Given the description of an element on the screen output the (x, y) to click on. 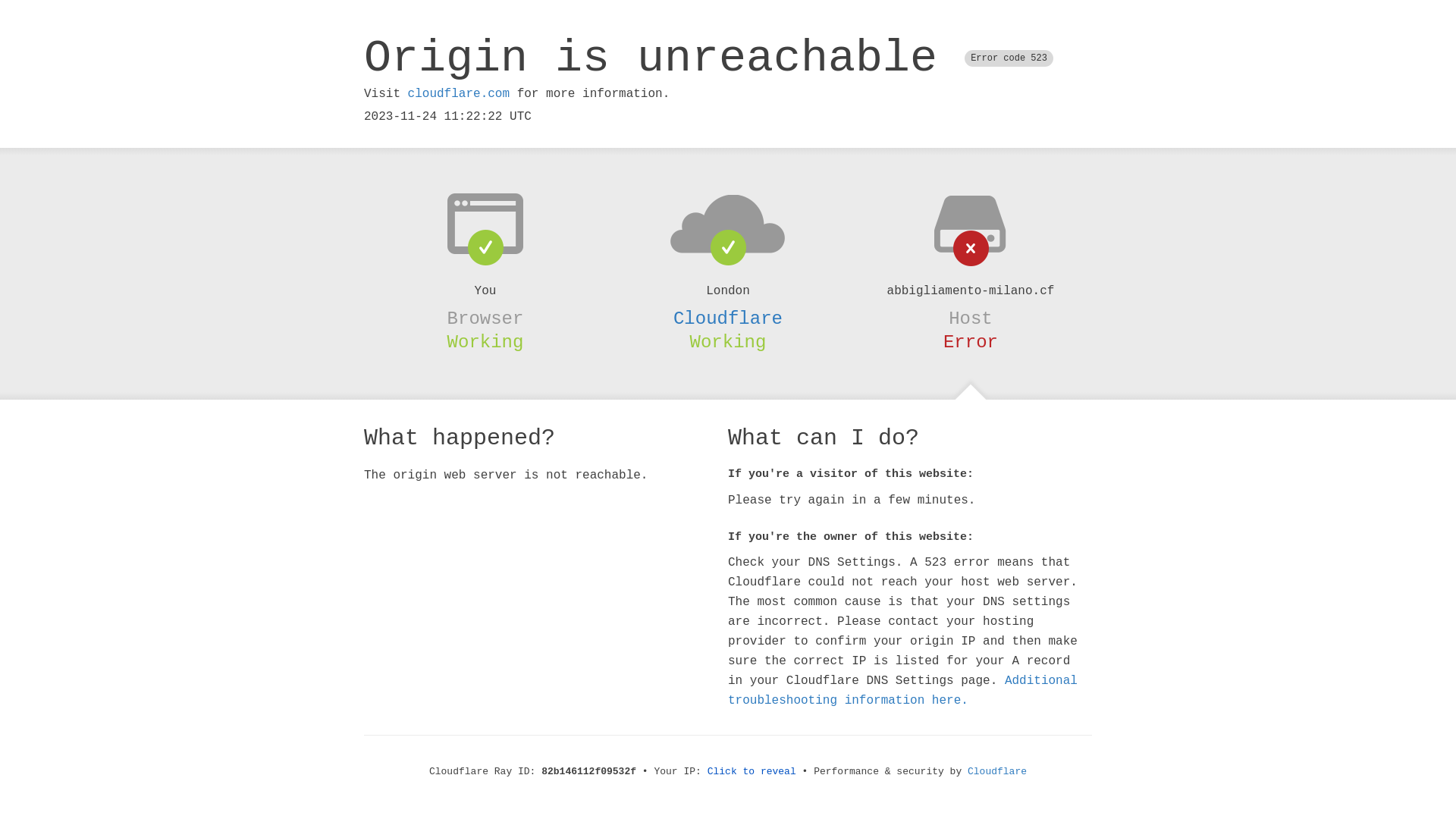
cloudflare.com Element type: text (458, 93)
Click to reveal Element type: text (751, 771)
Cloudflare Element type: text (996, 771)
Cloudflare Element type: text (727, 318)
Additional troubleshooting information here. Element type: text (902, 690)
